Given the description of an element on the screen output the (x, y) to click on. 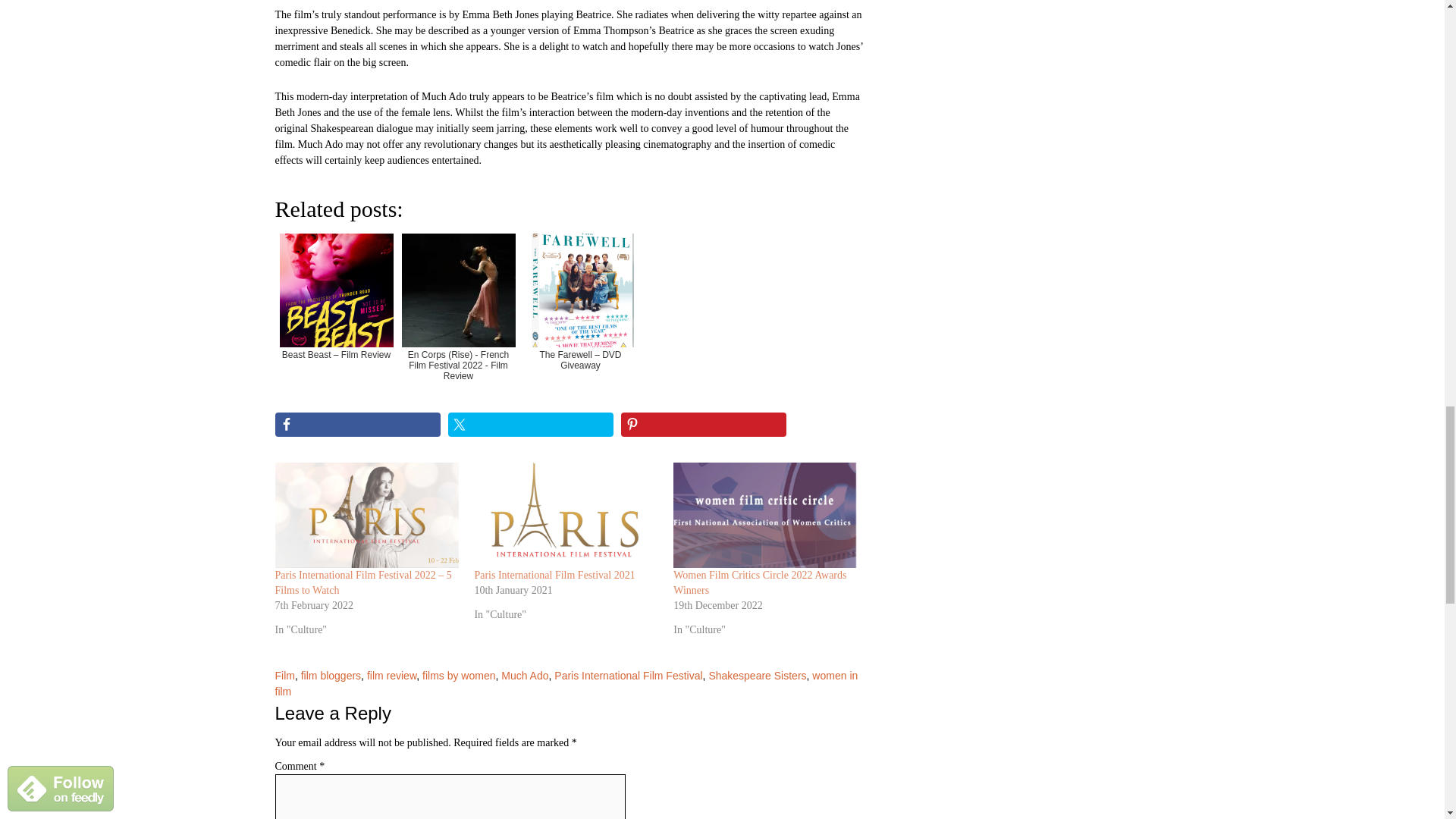
Women Film Critics Circle 2022 Awards Winners (764, 515)
films by women (458, 675)
Women Film Critics Circle 2022 Awards Winners (758, 582)
film bloggers (331, 675)
women in film (566, 683)
Film (284, 675)
Paris International Film Festival (627, 675)
Share on Pinterest (703, 424)
Shakespeare Sisters (756, 675)
Women Film Critics Circle 2022 Awards Winners (758, 582)
Paris International Film Festival 2021 (566, 515)
Much Ado (524, 675)
Share on Facebook (357, 424)
Paris International Film Festival 2021 (554, 574)
film review (391, 675)
